Given the description of an element on the screen output the (x, y) to click on. 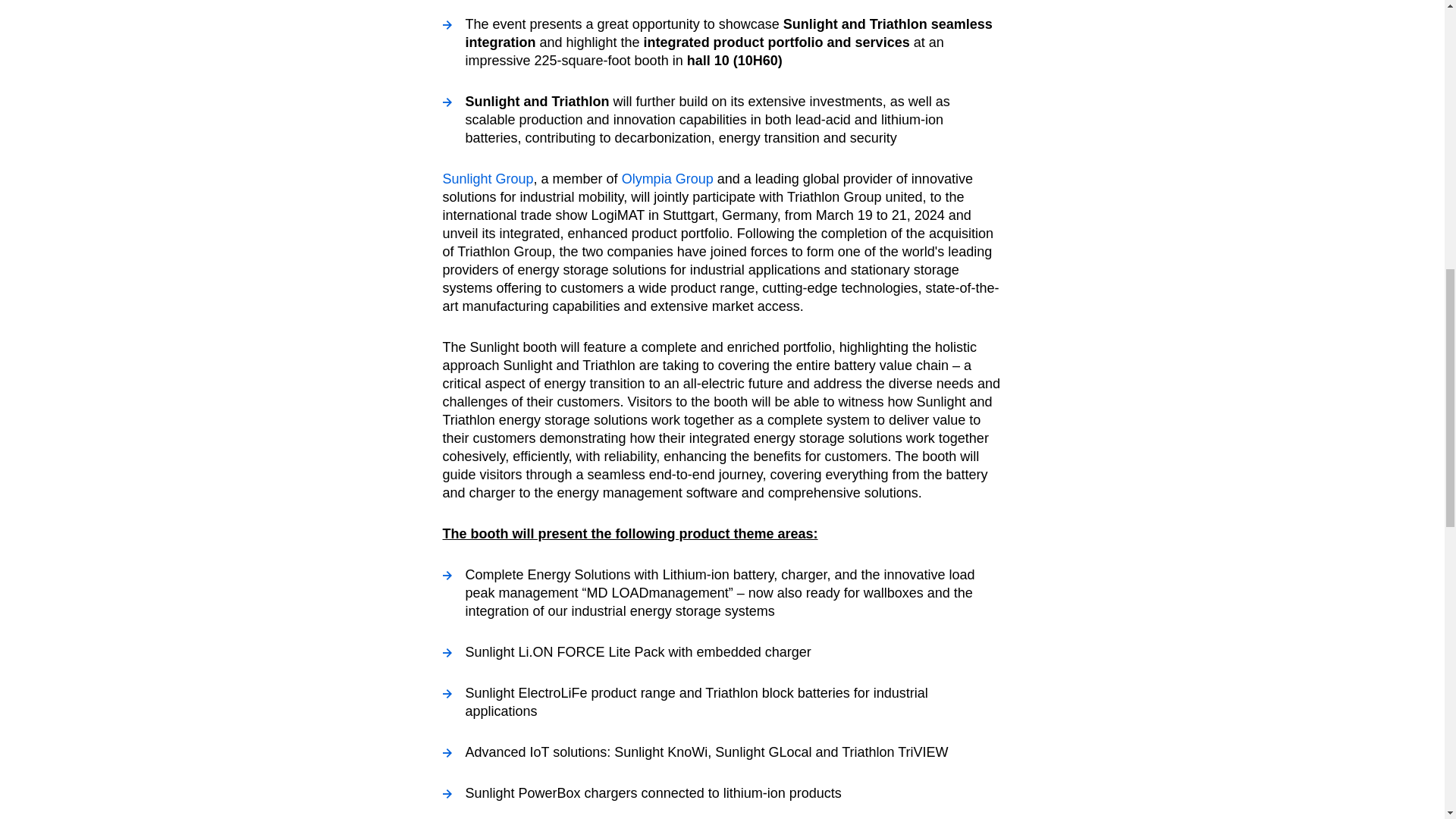
Sunlight Group (488, 178)
Olympia Group (667, 178)
